Given the description of an element on the screen output the (x, y) to click on. 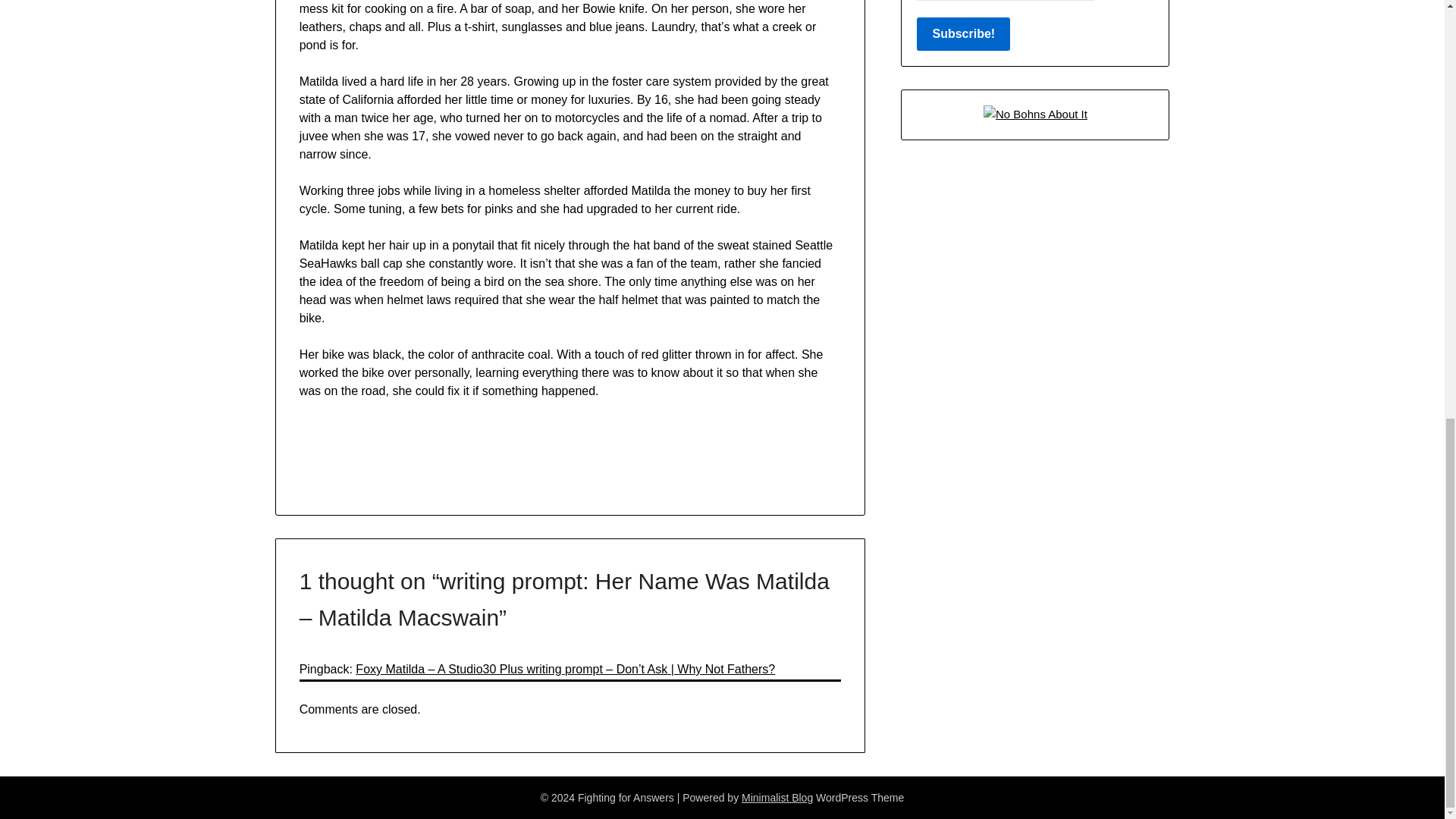
Subscribe! (963, 33)
Subscribe! (963, 33)
No Bohns About It (1035, 113)
Minimalist Blog (776, 797)
